Given the description of an element on the screen output the (x, y) to click on. 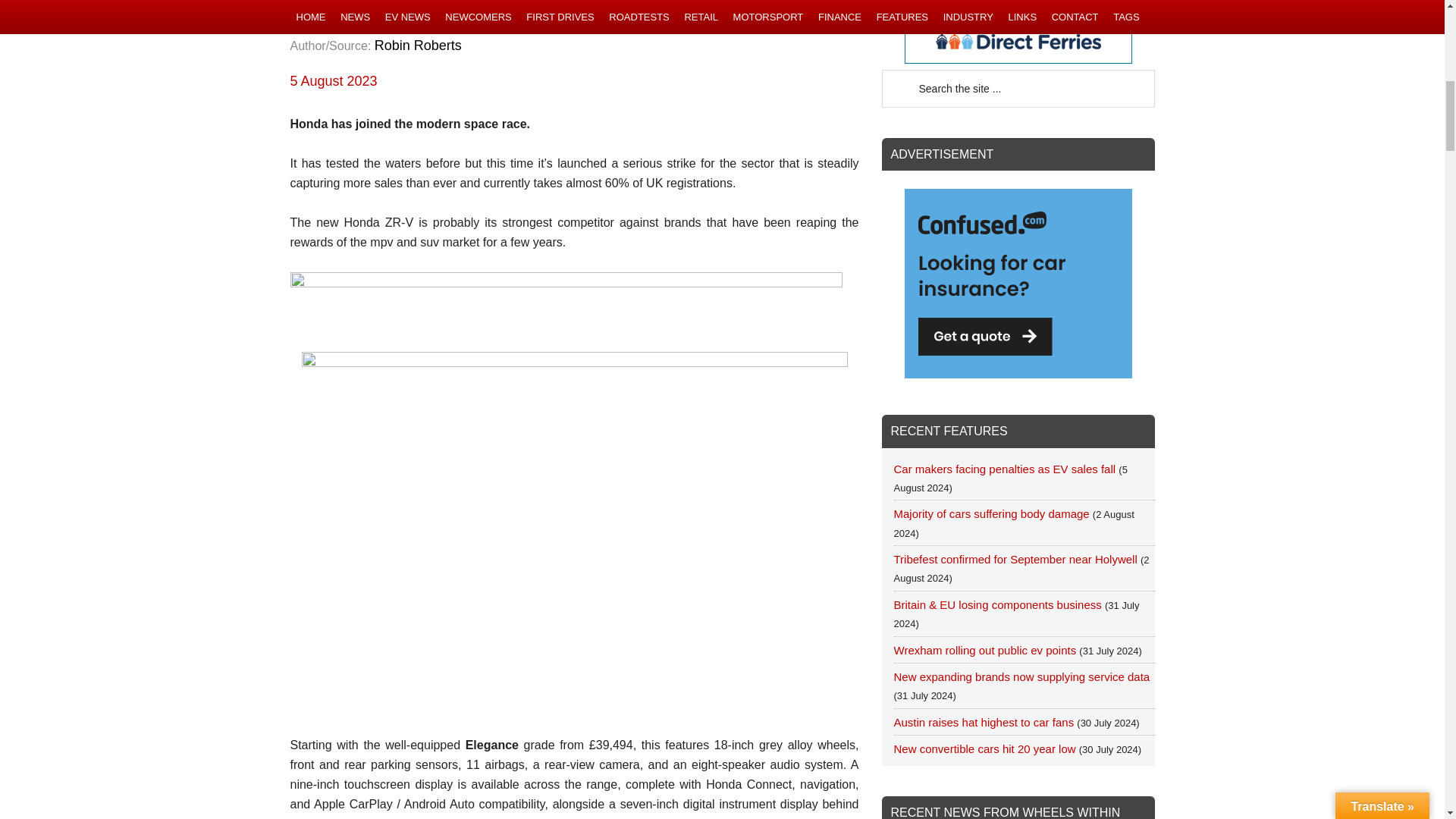
Permanent link to Austin raises hat highest to car fans (983, 721)
Permanent link to Majority of cars suffering body damage (991, 513)
Permanent link to Wrexham rolling out public ev points (984, 649)
Permanent link to New convertible cars hit 20 year low (984, 748)
